Given the description of an element on the screen output the (x, y) to click on. 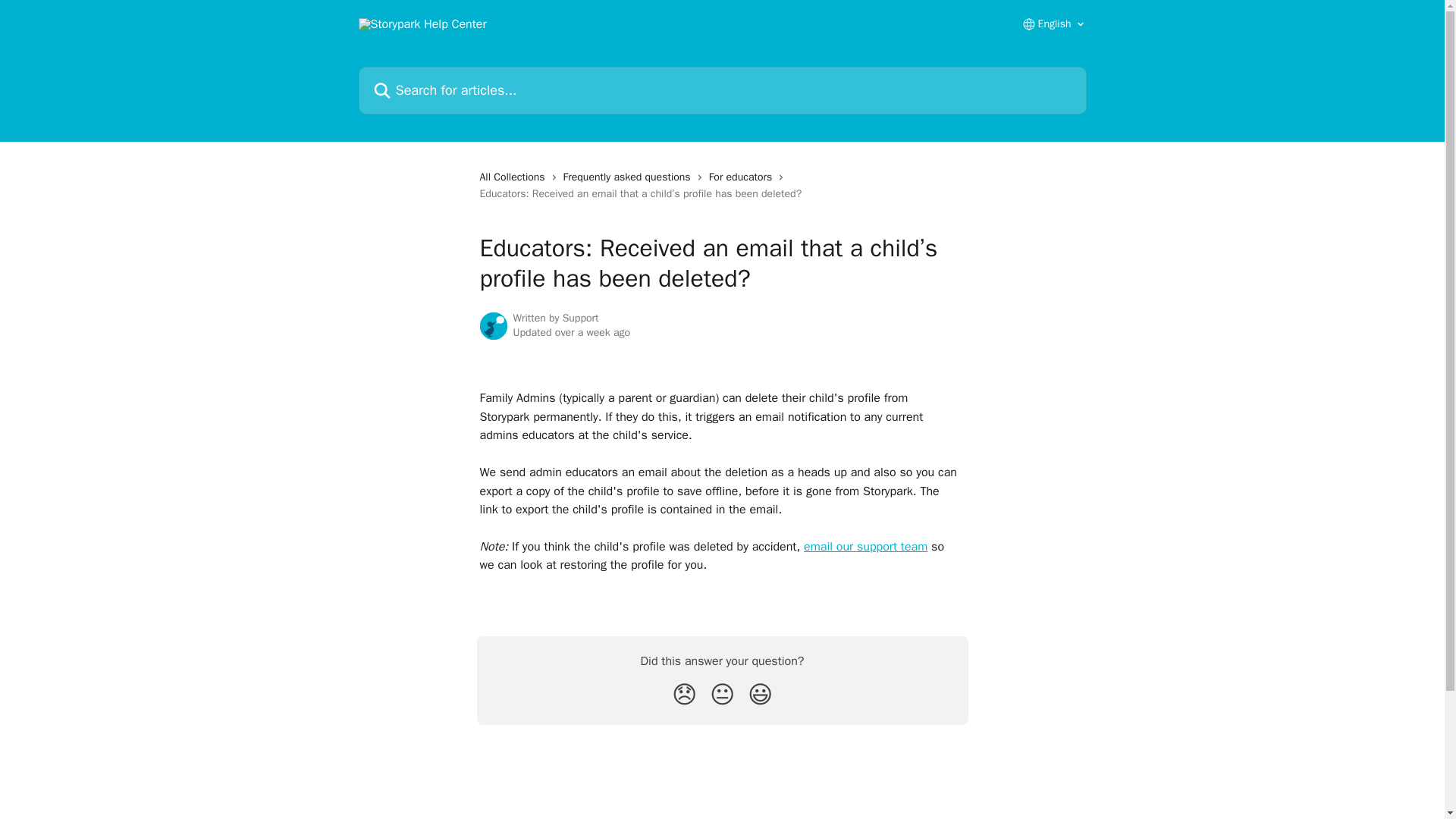
email our support team (865, 546)
Frequently asked questions (630, 176)
Disappointed (684, 694)
Smiley (760, 694)
Neutral (722, 694)
For educators (743, 176)
All Collections (514, 176)
